Given the description of an element on the screen output the (x, y) to click on. 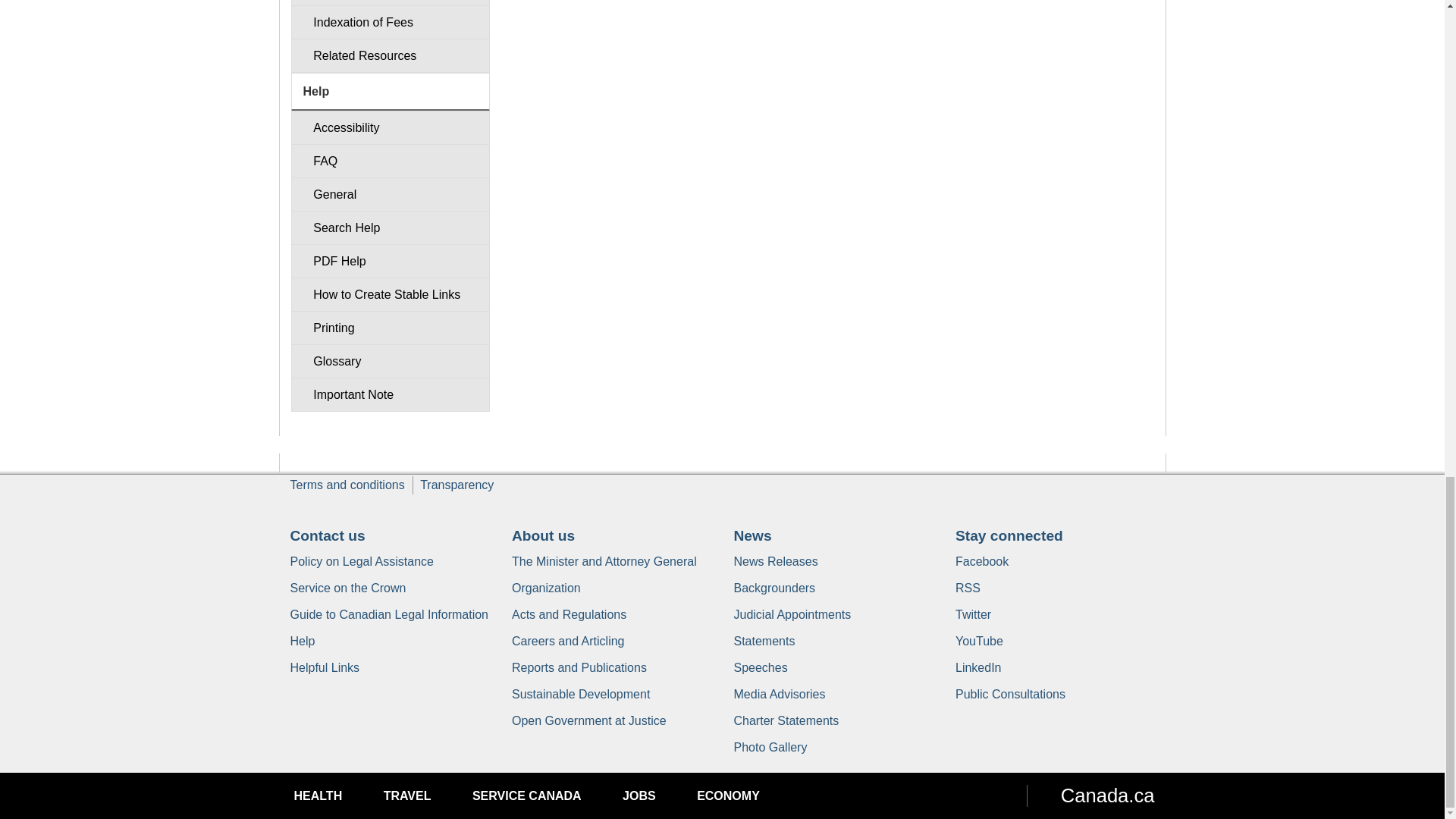
Related Resources (390, 55)
Consolidated Index of Statutory Instruments (390, 2)
Printing Help (390, 327)
Helpful links (324, 667)
Frequently Asked Questions (390, 161)
Indexation of Fees (390, 21)
General Help (390, 194)
Accessibility Help (390, 127)
